Given the description of an element on the screen output the (x, y) to click on. 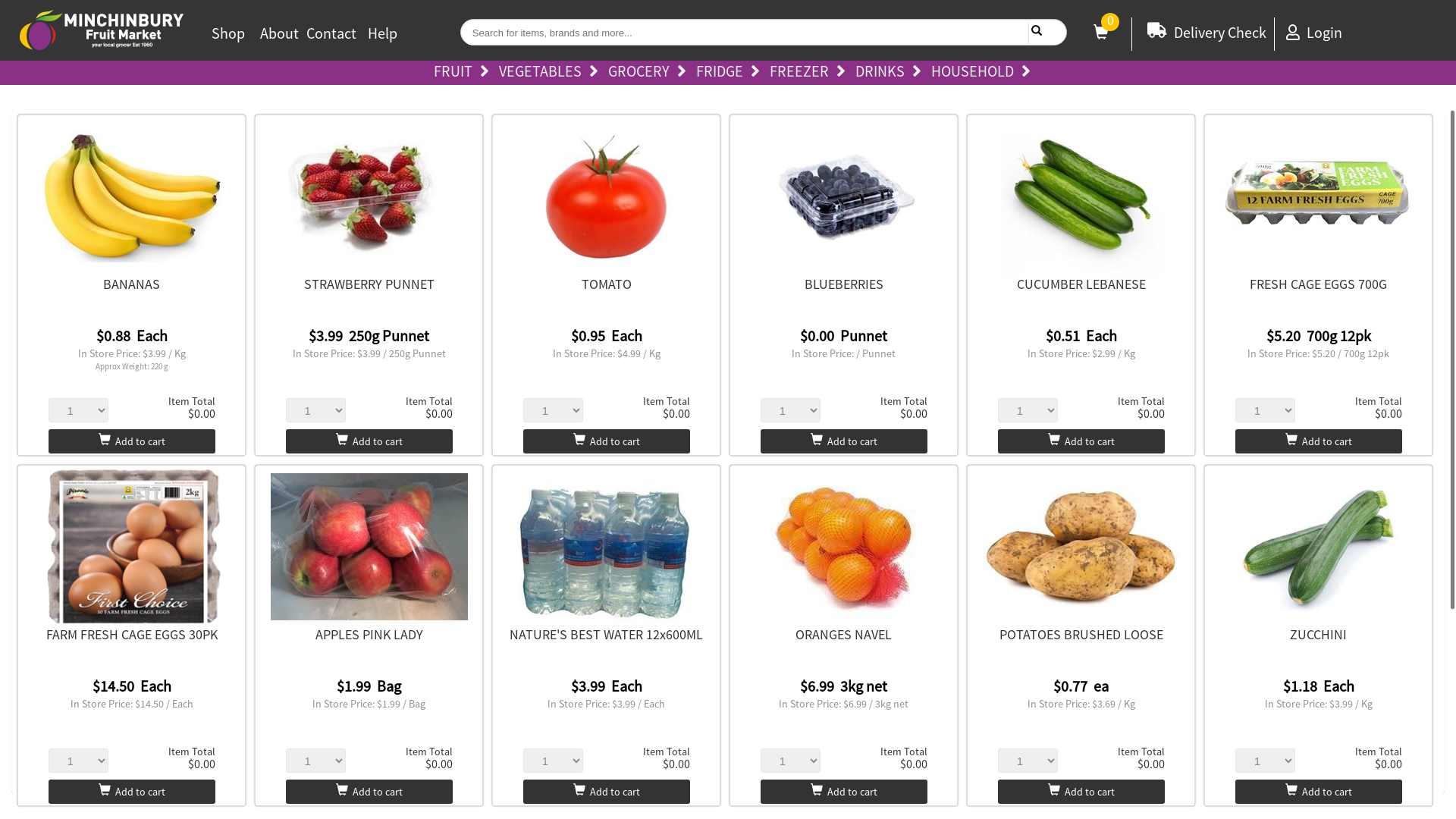
Show details for APPLES PINK LADY Element type: hover (368, 546)
Show details for BANANAS Element type: hover (131, 195)
Add to cart Element type: text (606, 441)
Show details for CUCUMBER LEBANESE Element type: hover (1081, 196)
FARM FRESH CAGE EGGS 30PK Element type: text (131, 634)
CUCUMBER LEBANESE Element type: text (1080, 283)
Show details for BLUEBERRIES Element type: hover (843, 196)
Add to cart Element type: text (1080, 441)
Show details for FRESH CAGE EGGS 700G Element type: hover (1318, 196)
Add to cart Element type: text (131, 441)
NATURE'S BEST WATER 12x600ML Element type: text (605, 634)
VEGETABLES Element type: text (551, 72)
DRINKS Element type: text (891, 72)
Contact Element type: text (331, 32)
Show details for TOMATO Element type: hover (606, 196)
APPLES PINK LADY Element type: text (369, 634)
BLUEBERRIES Element type: text (843, 283)
POTATOES BRUSHED LOOSE Element type: text (1081, 634)
GROCERY Element type: text (650, 72)
Add to cart Element type: text (843, 441)
TOMATO Element type: text (606, 283)
Add to cart Element type: text (368, 441)
Add to cart Element type: text (131, 791)
Show details for NATURE'S BEST WATER 12x600ML Element type: hover (606, 546)
Show details for FARM FRESH CAGE EGGS 30PK Element type: hover (131, 546)
Add to cart Element type: text (606, 791)
FREEZER Element type: text (810, 72)
Show details for ORANGES NAVEL Element type: hover (843, 547)
Shop Element type: text (227, 32)
BANANAS Element type: text (131, 283)
Show details for POTATOES BRUSHED LOOSE Element type: hover (1080, 546)
Show details for ZUCCHINI Element type: hover (1318, 546)
FRUIT Element type: text (464, 72)
Add to cart Element type: text (368, 791)
FRESH CAGE EGGS 700G Element type: text (1317, 283)
ZUCCHINI Element type: text (1317, 634)
HOUSEHOLD Element type: text (984, 72)
Add to cart Element type: text (843, 791)
FRIDGE Element type: text (731, 72)
About Element type: text (279, 32)
Help Element type: text (382, 32)
Login Element type: text (1314, 31)
Add to cart Element type: text (1318, 791)
Add to cart Element type: text (1080, 791)
Show details for STRAWBERRY PUNNET Element type: hover (369, 196)
STRAWBERRY PUNNET Element type: text (369, 283)
ORANGES NAVEL Element type: text (843, 634)
Add to cart Element type: text (1318, 441)
